Given the description of an element on the screen output the (x, y) to click on. 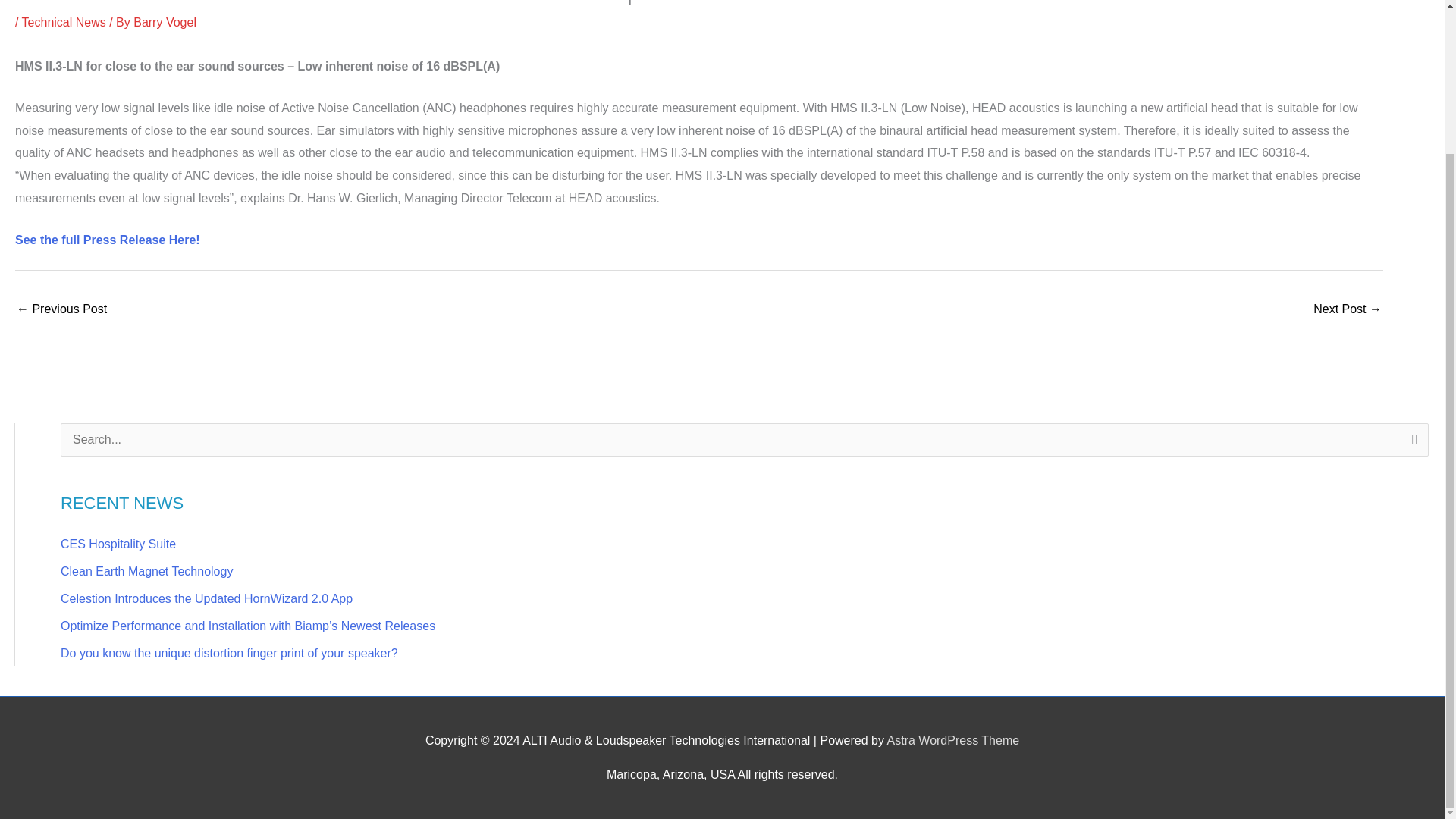
Unattended Environmental Noise and Weather Measurement (1347, 310)
Search (1411, 444)
Search (1411, 444)
View all posts by Barry Vogel (164, 21)
